Given the description of an element on the screen output the (x, y) to click on. 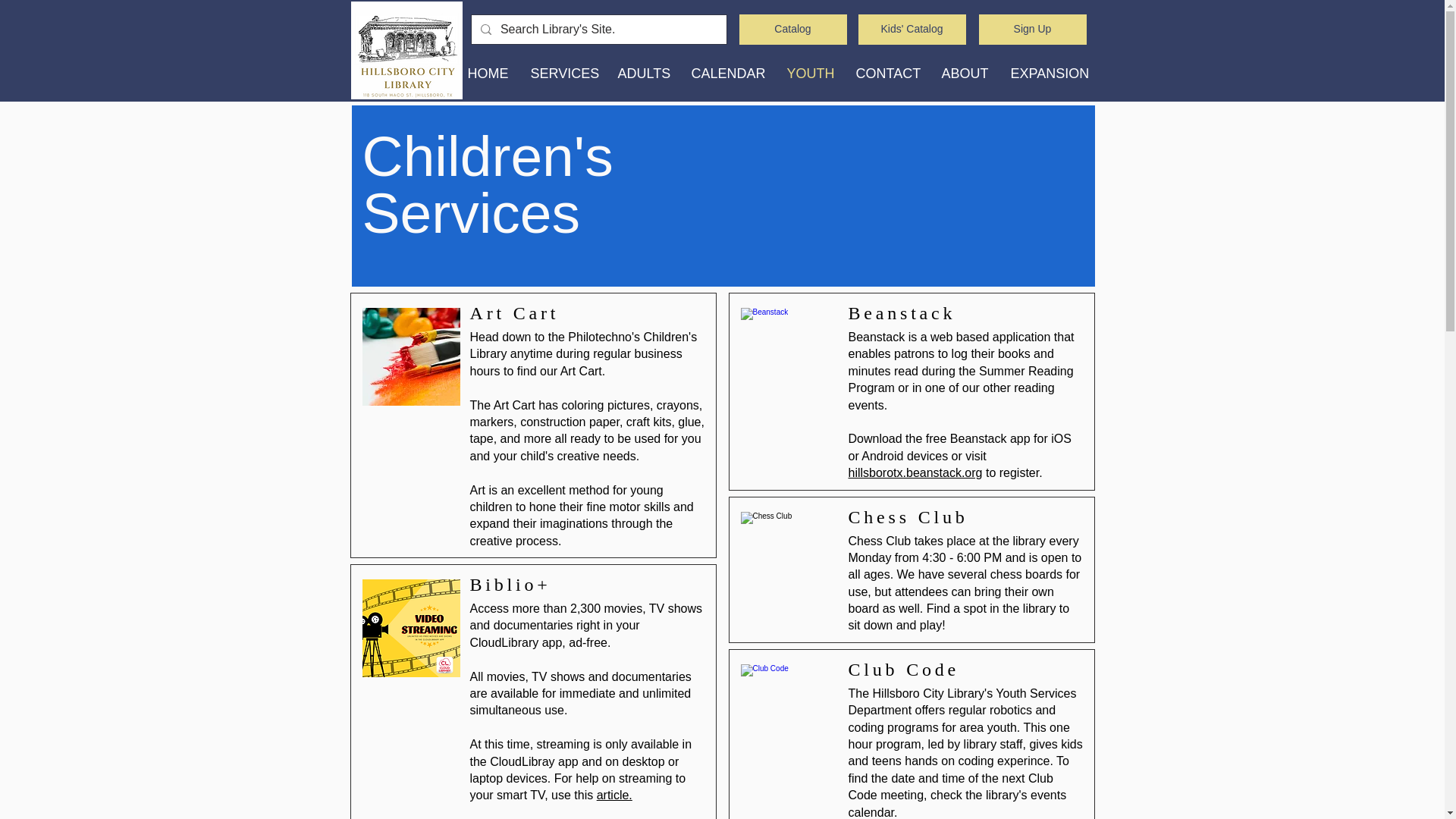
EXPANSION (1047, 73)
CALENDAR (726, 73)
Club Code (788, 713)
YOUTH (809, 73)
ABOUT (964, 73)
Catalog (791, 29)
Beanstack (788, 356)
article. (613, 794)
CONTACT (887, 73)
Sign Up (1032, 29)
